Given the description of an element on the screen output the (x, y) to click on. 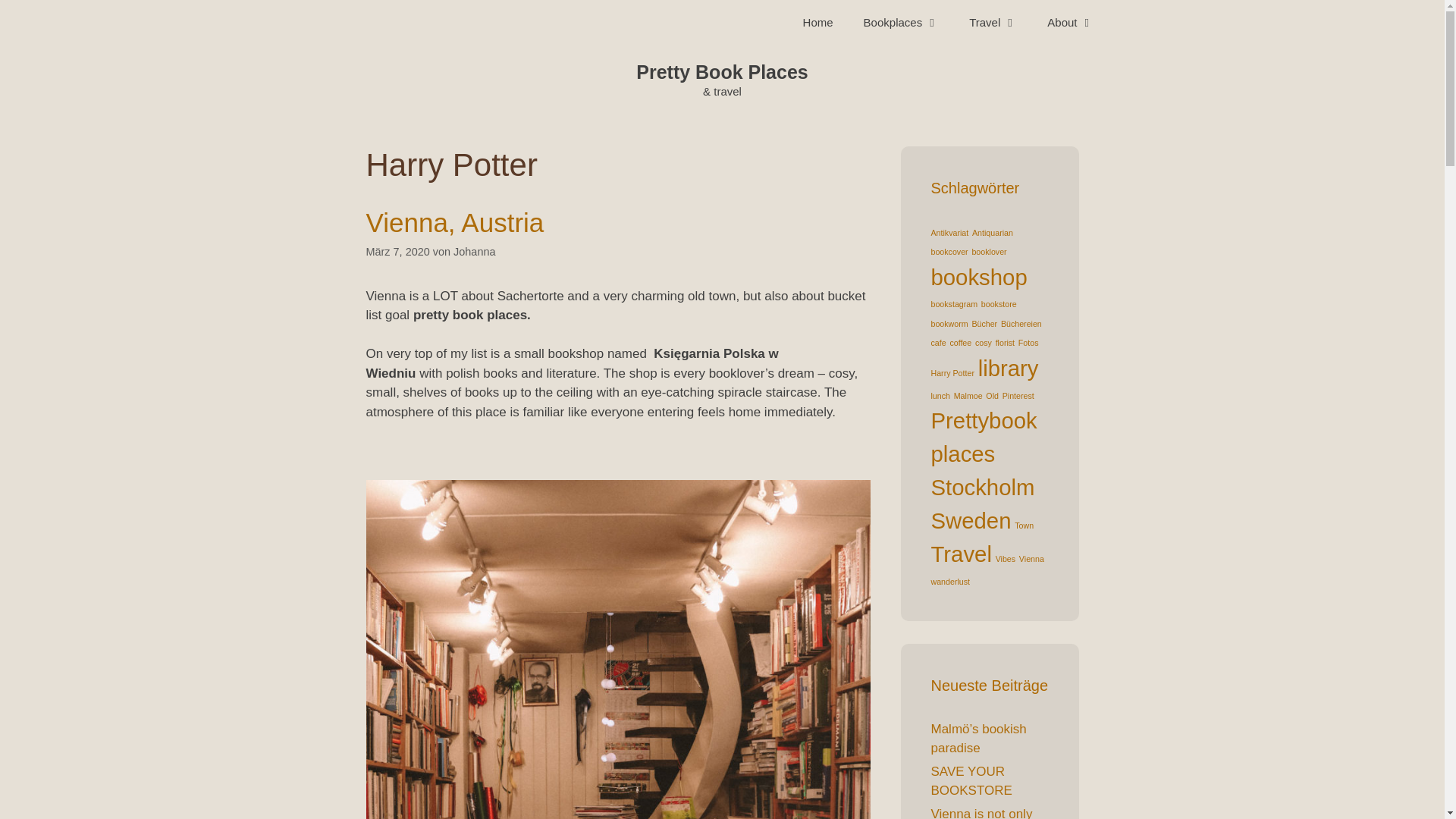
Antikvariat (950, 231)
Fotos (1028, 342)
booklover (988, 251)
cafe (938, 342)
About (1070, 22)
Home (817, 22)
bookcover (949, 251)
bookshop (979, 276)
bookworm (949, 323)
Pretty Book Places (722, 71)
Bookplaces (901, 22)
Antiquarian (992, 231)
cosy (983, 342)
bookstagram (954, 303)
florist (1004, 342)
